Given the description of an element on the screen output the (x, y) to click on. 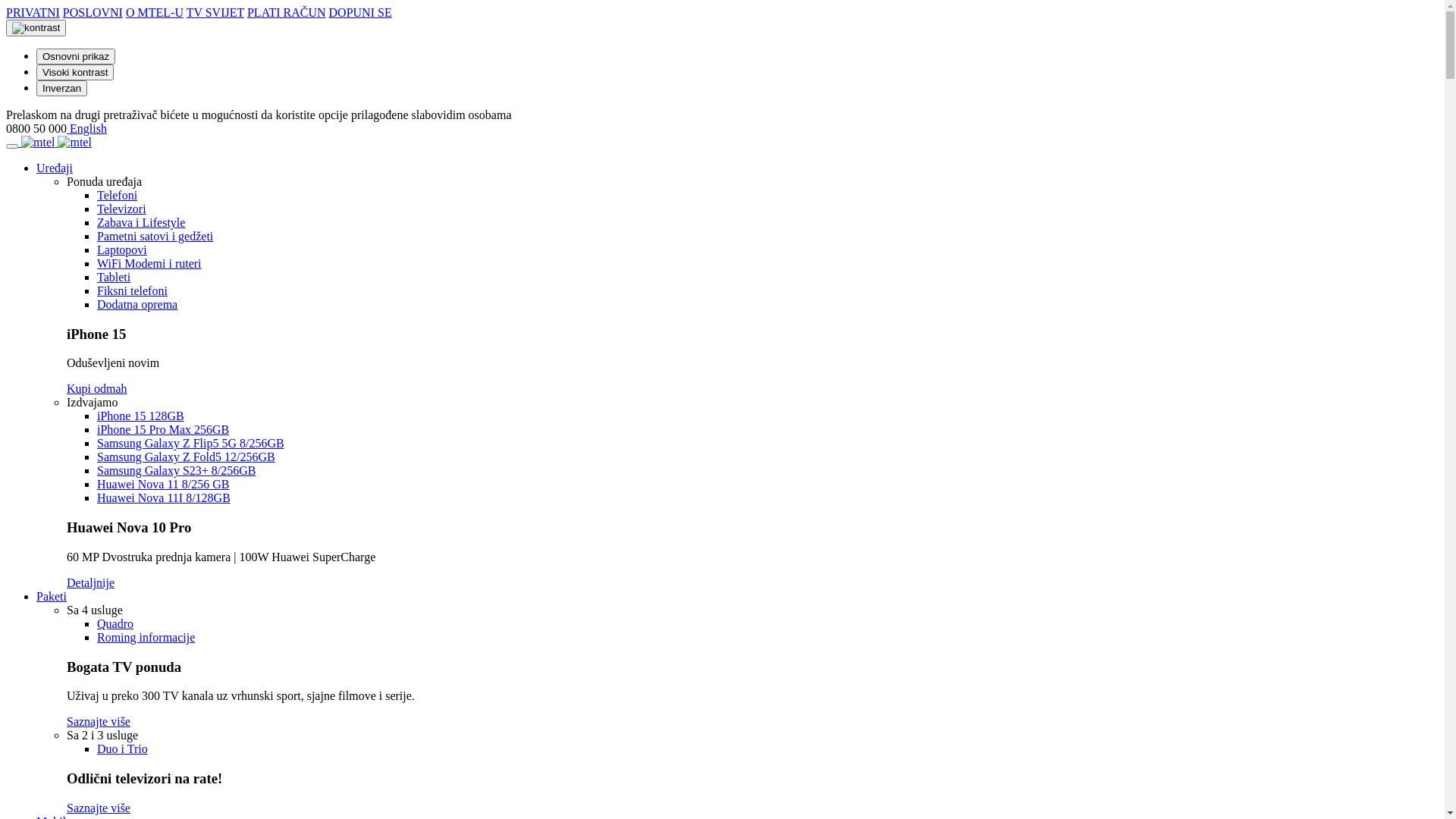
Kupi odmah Element type: text (96, 388)
Inverzan Element type: text (61, 88)
Samsung Galaxy Z Fold5 12/256GB Element type: text (186, 456)
Televizori Element type: text (121, 208)
Laptopovi Element type: text (122, 249)
WiFi Modemi i ruteri Element type: text (149, 263)
Huawei Nova 11 8/256 GB Element type: text (163, 483)
TV SVIJET Element type: text (215, 12)
Osnovni prikaz Element type: text (75, 56)
O MTEL-U Element type: text (154, 12)
Telefoni Element type: text (117, 194)
Duo i Trio Element type: text (122, 748)
Visoki kontrast Element type: text (74, 72)
mailto:korisnicka.podrska@mtel.ba Element type: hover (67, 128)
Quadro Element type: text (115, 623)
Fiksni telefoni Element type: text (132, 290)
PRIVATNI Element type: text (32, 12)
iPhone 15 128GB Element type: text (140, 415)
Roming informacije Element type: text (145, 636)
Huawei Nova 11I 8/128GB Element type: text (163, 497)
iPhone 15 Pro Max 256GB Element type: text (163, 429)
Detaljnije Element type: text (90, 582)
Paketi Element type: text (51, 595)
English Element type: text (87, 128)
Samsung Galaxy Z Flip5 5G 8/256GB Element type: text (190, 442)
POSLOVNI Element type: text (92, 12)
DOPUNI SE Element type: text (360, 12)
Samsung Galaxy S23+ 8/256GB Element type: text (176, 470)
Tableti Element type: text (113, 276)
Zabava i Lifestyle Element type: text (141, 222)
Dodatna oprema Element type: text (137, 304)
